Given the description of an element on the screen output the (x, y) to click on. 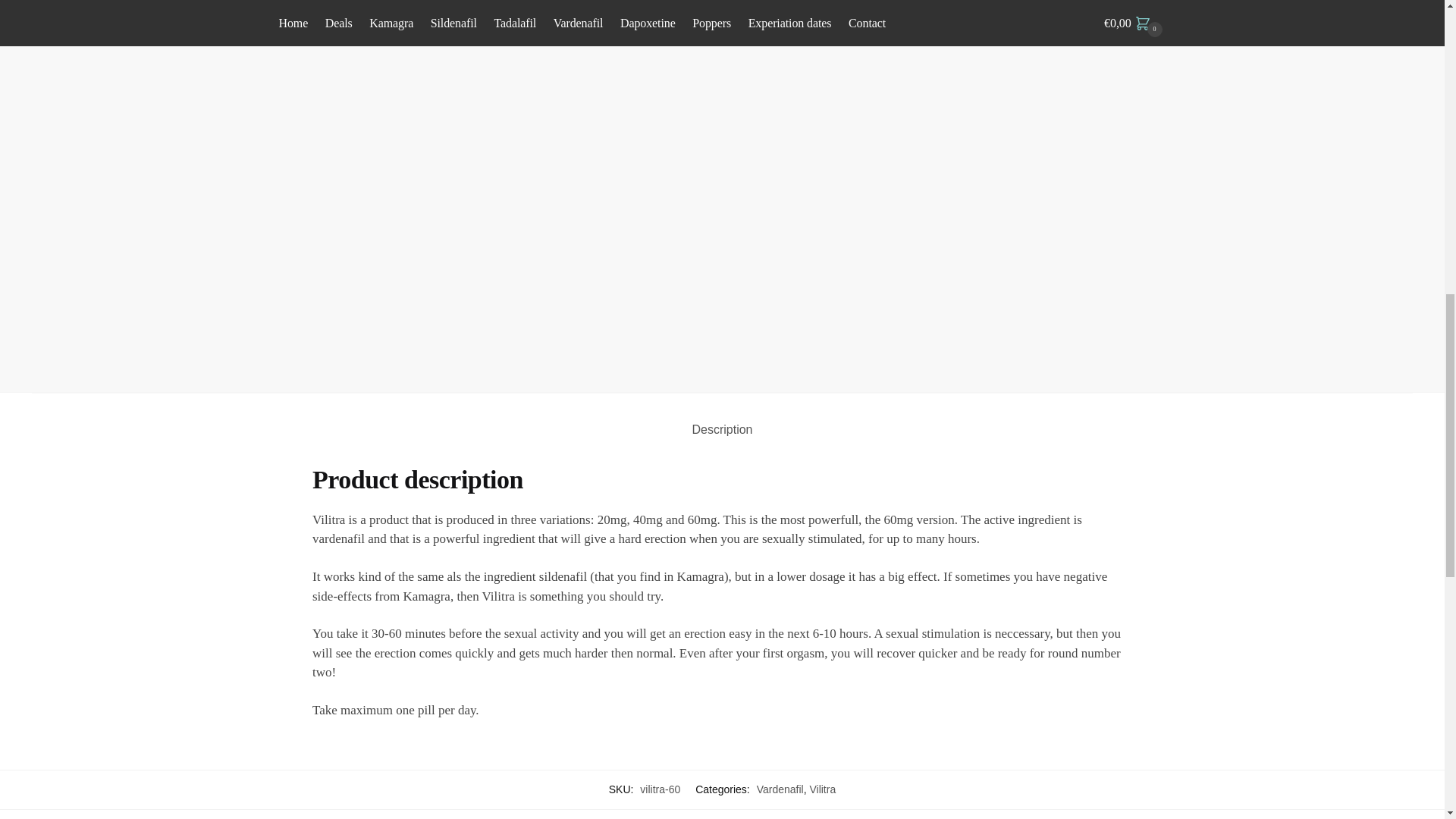
Description (721, 417)
Vilitra (822, 788)
Vardenafil (780, 788)
